Given the description of an element on the screen output the (x, y) to click on. 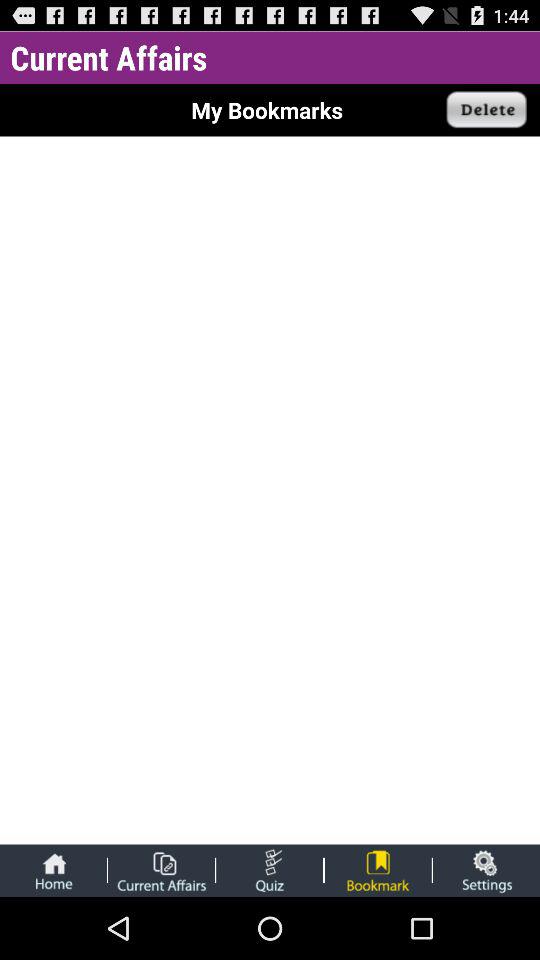
current affairs option (161, 870)
